Given the description of an element on the screen output the (x, y) to click on. 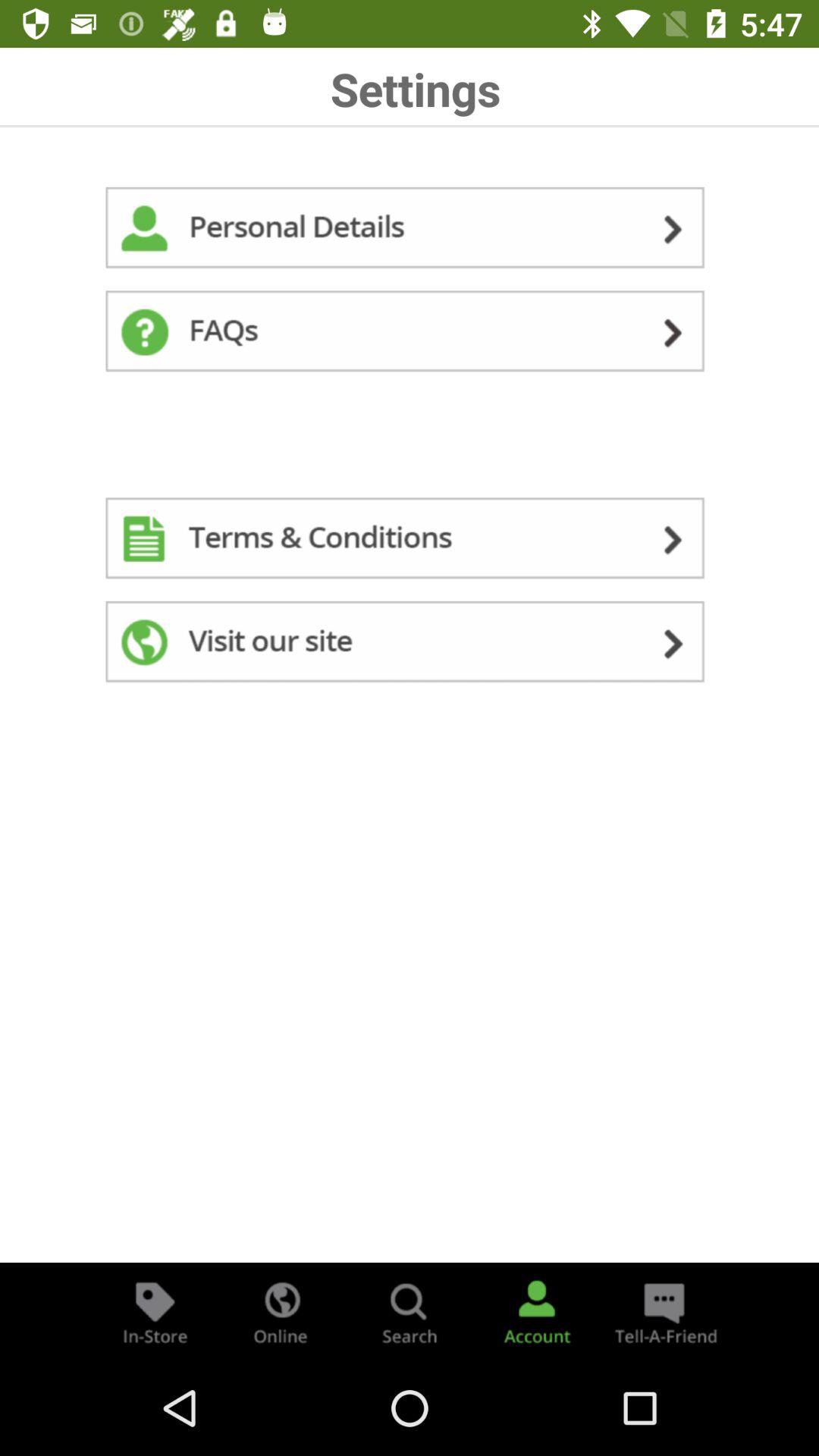
read terms and conditions (409, 541)
